Given the description of an element on the screen output the (x, y) to click on. 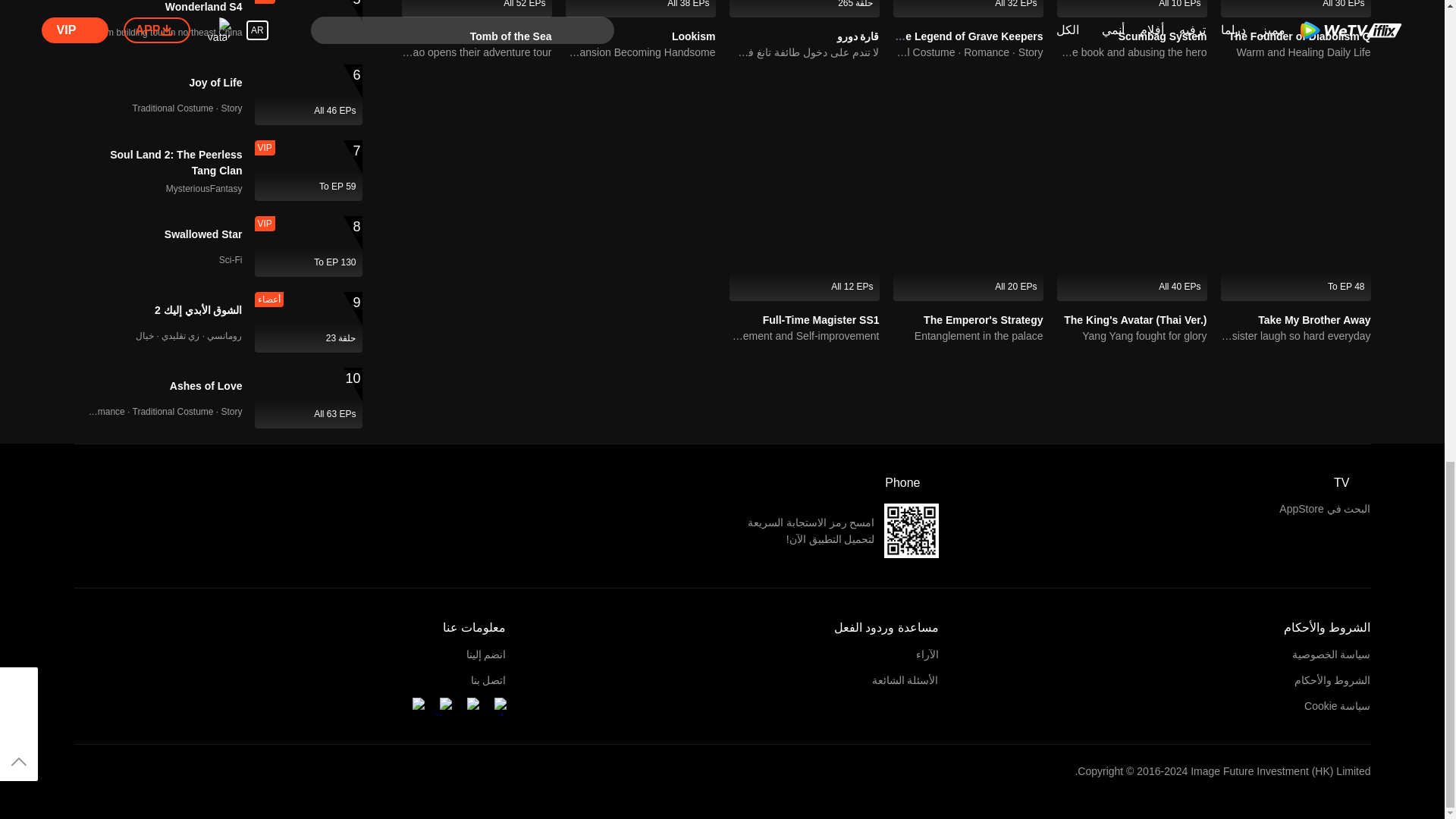
Scumbag System (1132, 8)
Lookism (641, 8)
Scumbag System (1162, 36)
Tomb of the Sea (476, 8)
The Emperor's Strategy (982, 319)
Tomb of the Sea (510, 36)
Two-sided Life of Fat Mansion Becoming Handsome (641, 52)
Scumbag System (1162, 36)
The Legend of Grave Keepers (967, 36)
The Legend of Grave Keepers (967, 36)
